Given the description of an element on the screen output the (x, y) to click on. 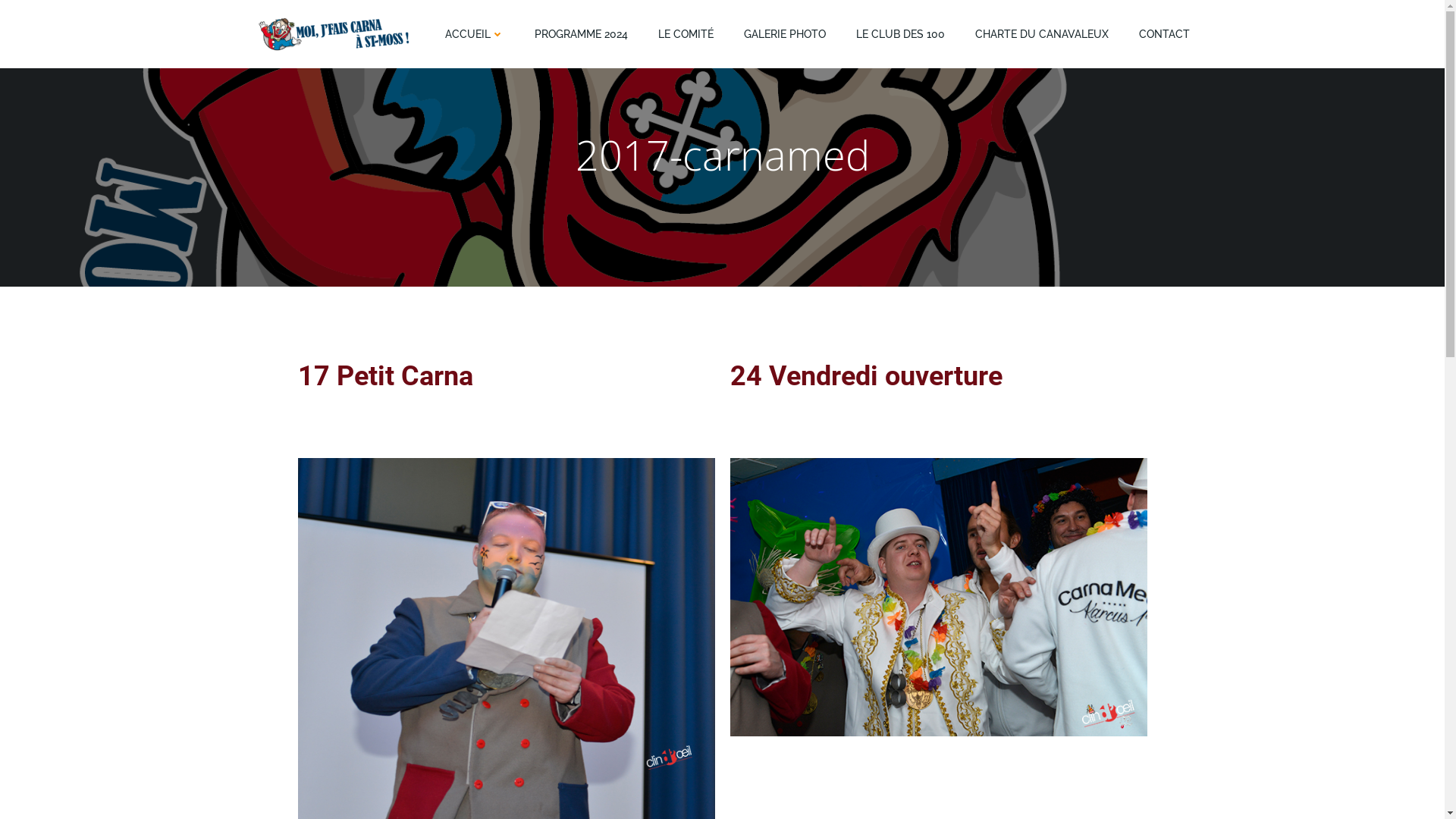
CONTACT Element type: text (1164, 33)
CHARTE DU CANAVALEUX Element type: text (1041, 33)
LE CLUB DES 100 Element type: text (899, 33)
GALERIE PHOTO Element type: text (784, 33)
PROGRAMME 2024 Element type: text (580, 33)
ACCUEIL Element type: text (473, 33)
